Given the description of an element on the screen output the (x, y) to click on. 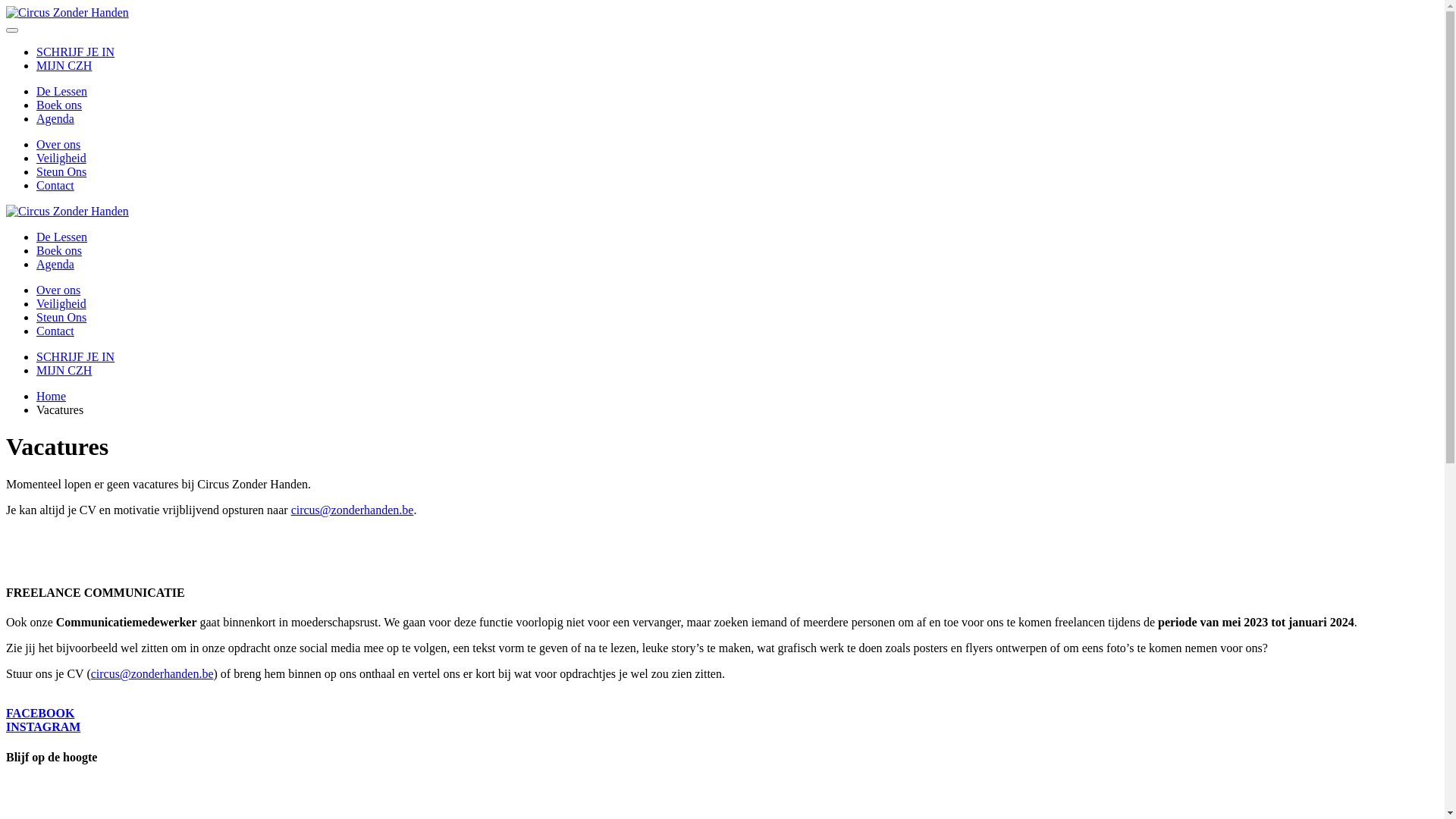
Over ons Element type: text (58, 289)
SCHRIJF JE IN Element type: text (75, 51)
De Lessen Element type: text (61, 236)
Veiligheid Element type: text (61, 303)
Veiligheid Element type: text (61, 157)
Boek ons Element type: text (58, 250)
FACEBOOK Element type: text (40, 712)
MIJN CZH Element type: text (63, 370)
Contact Element type: text (55, 184)
circus@zonderhanden.be Element type: text (152, 673)
Steun Ons Element type: text (61, 316)
Over ons Element type: text (58, 144)
INSTAGRAM Element type: text (43, 726)
Boek ons Element type: text (58, 104)
De Lessen Element type: text (61, 90)
Agenda Element type: text (55, 263)
circus@zonderhanden.be Element type: text (352, 509)
Contact Element type: text (55, 330)
MIJN CZH Element type: text (63, 65)
Steun Ons Element type: text (61, 171)
Agenda Element type: text (55, 118)
SCHRIJF JE IN Element type: text (75, 356)
Home Element type: text (50, 395)
